Given the description of an element on the screen output the (x, y) to click on. 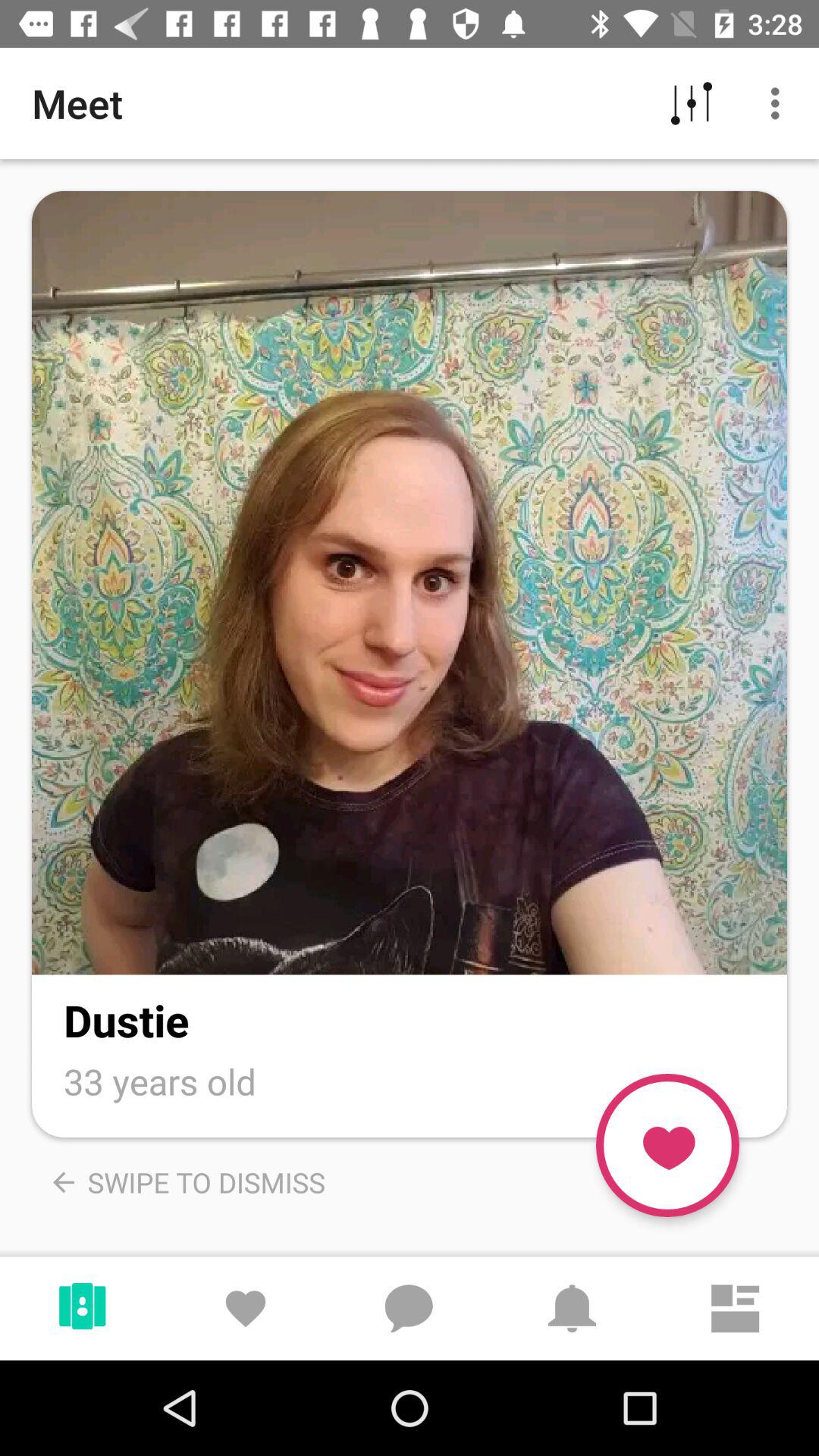
jump until the dustie icon (126, 1019)
